Given the description of an element on the screen output the (x, y) to click on. 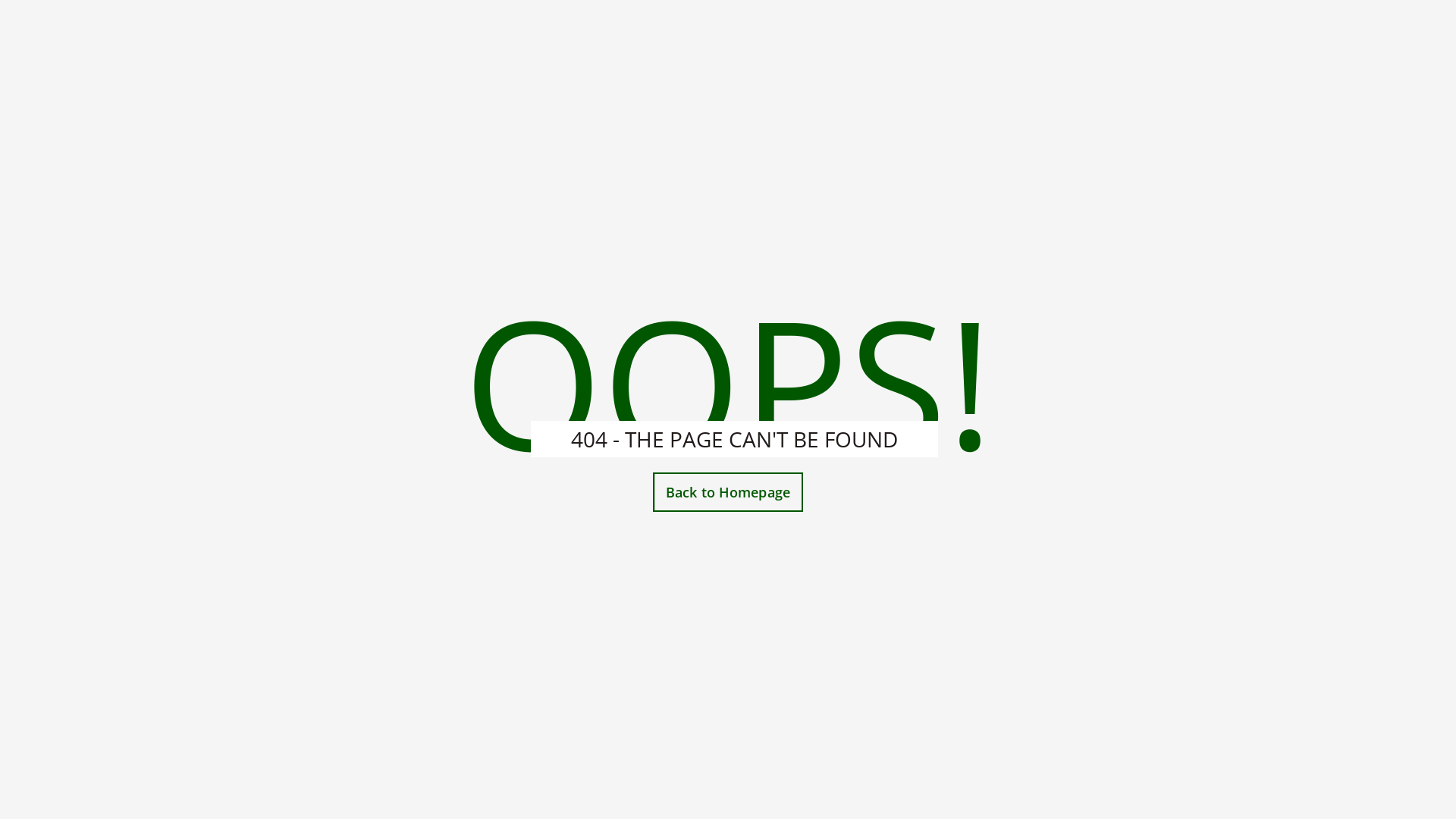
Back to Homepage Element type: text (727, 491)
